Given the description of an element on the screen output the (x, y) to click on. 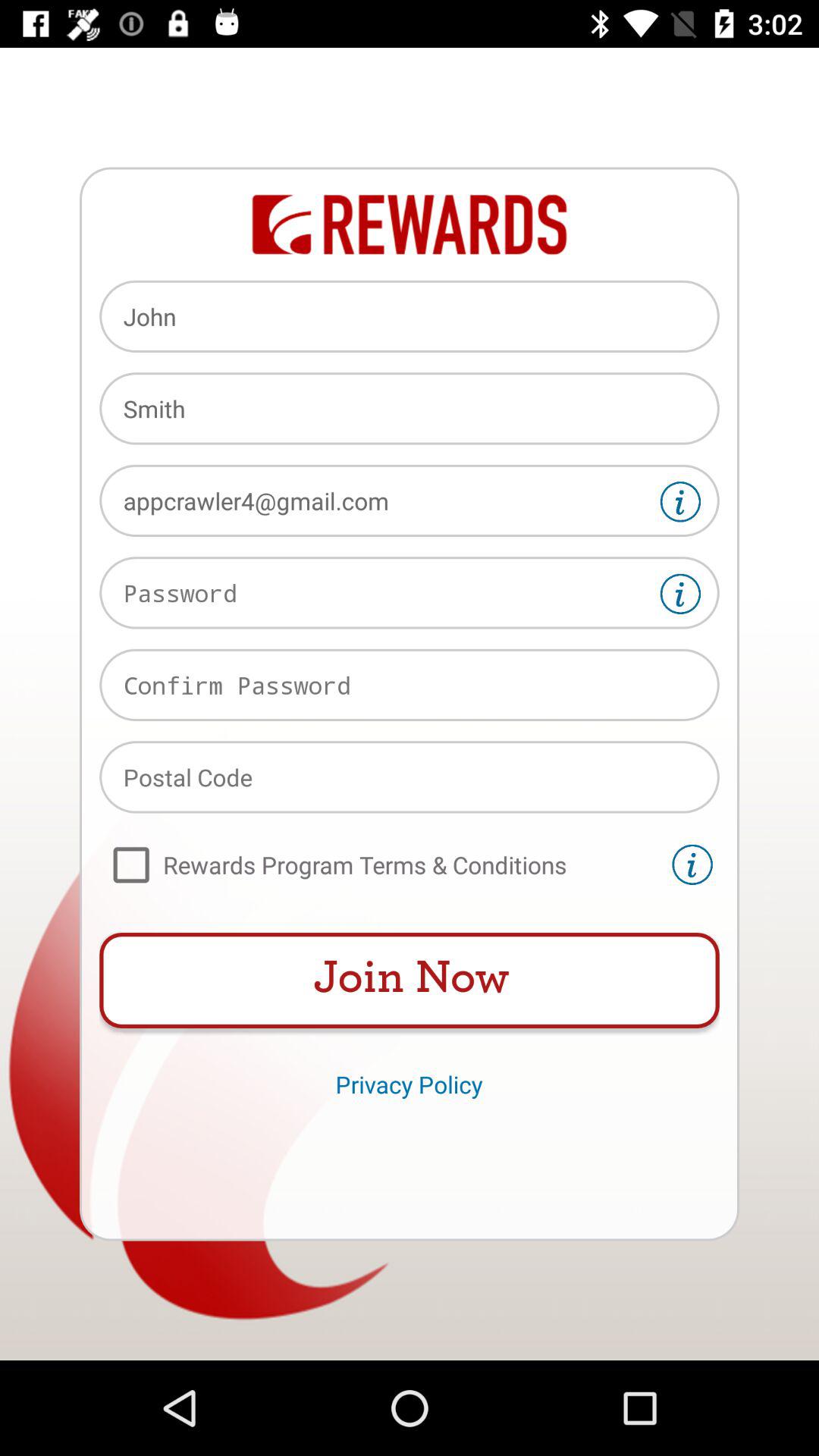
choose the item above privacy policy item (409, 980)
